Given the description of an element on the screen output the (x, y) to click on. 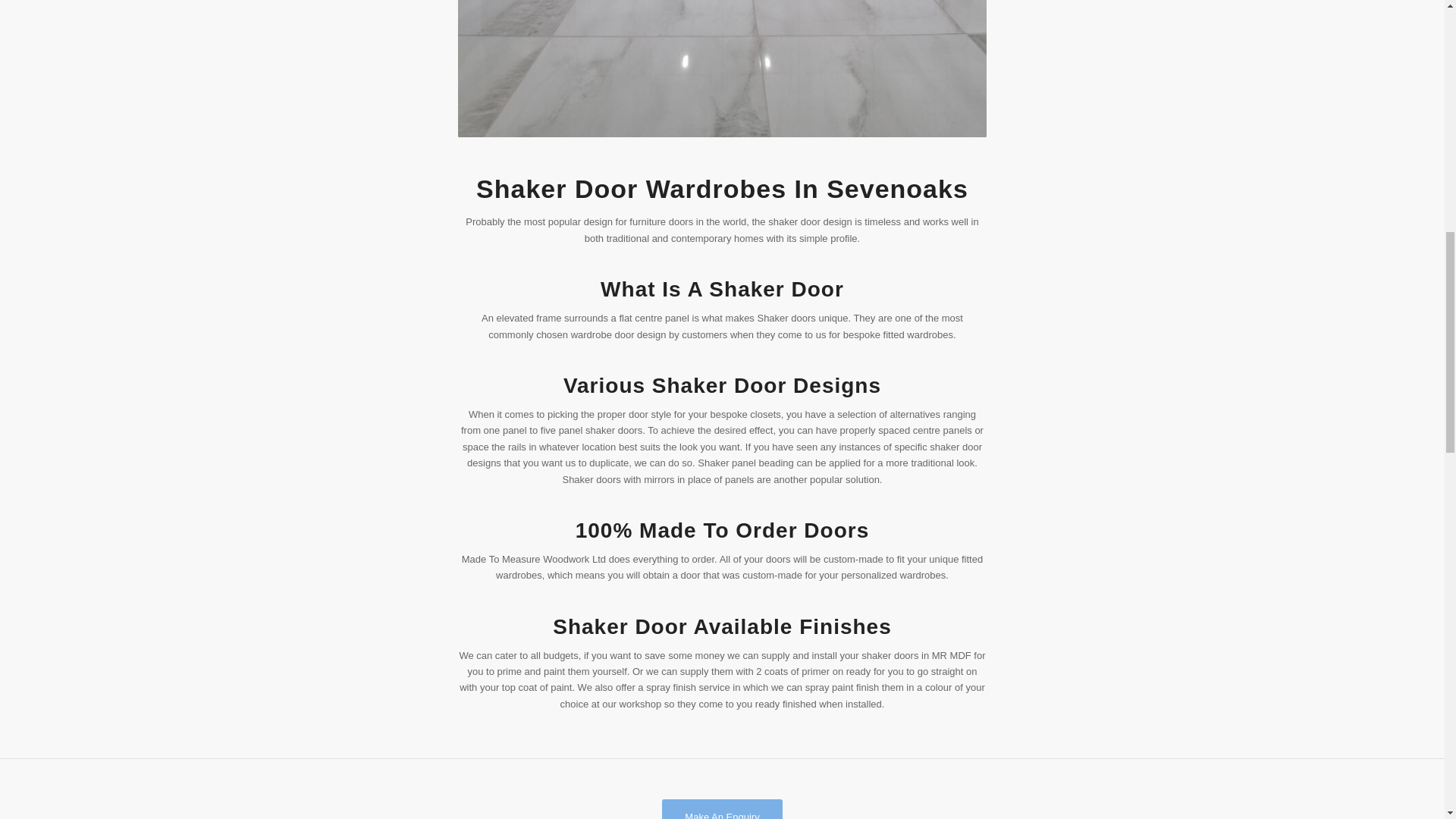
Make An Enquiry (721, 809)
Bespoke 4 Panel Shaker Door Wardrobes 2 (722, 69)
